Given the description of an element on the screen output the (x, y) to click on. 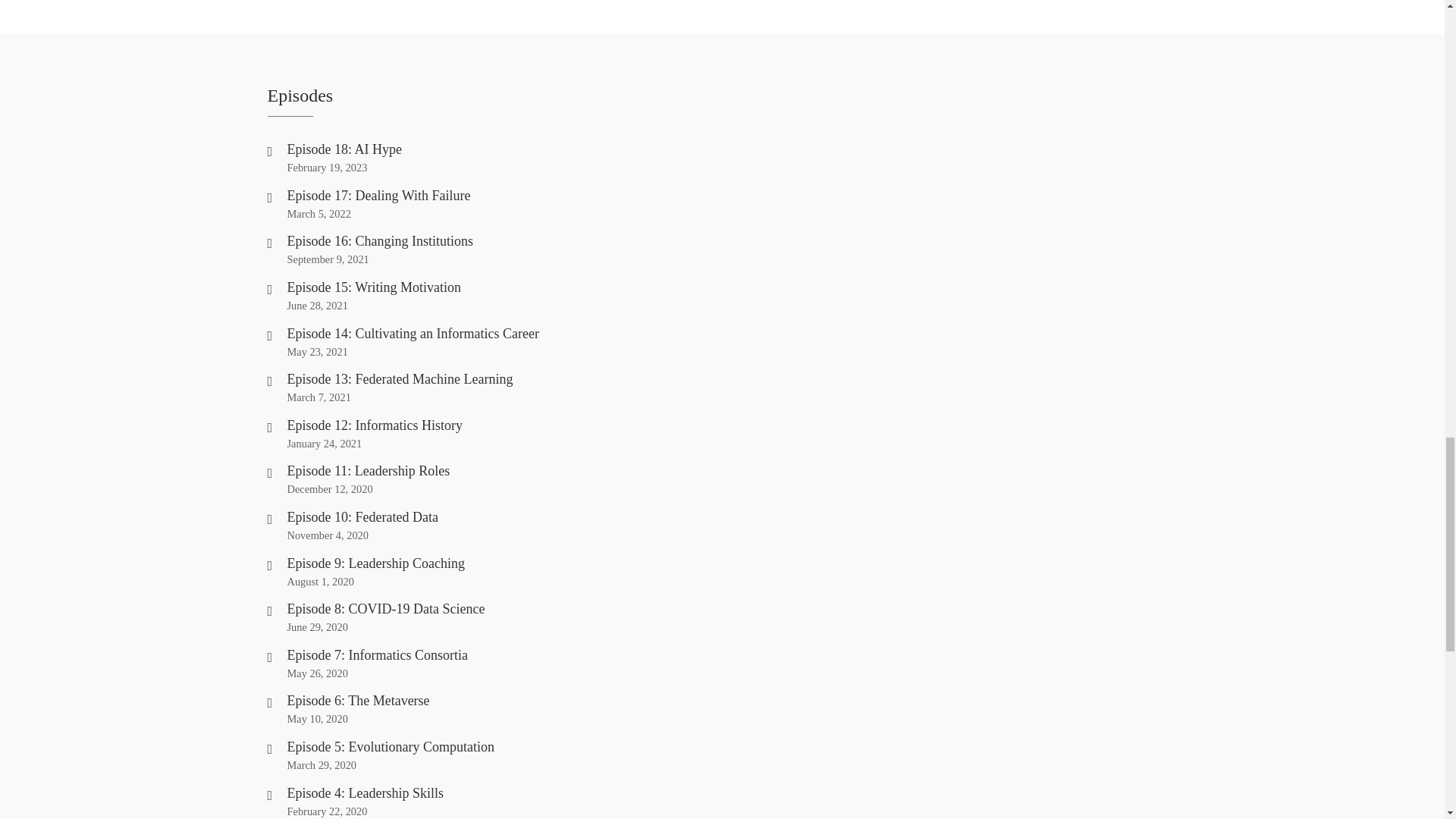
Episode 12: Informatics History (373, 425)
Episode 15: Writing Motivation (373, 287)
Episode 14: Cultivating an Informatics Career (412, 333)
Episode 4: Leadership Skills (364, 792)
Episode 18: AI Hype (343, 149)
Episode 5: Evolutionary Computation (389, 746)
Episode 16: Changing Institutions (379, 240)
Episode 10: Federated Data (362, 516)
Episode 17: Dealing With Failure (378, 195)
Episode 6: The Metaverse (357, 700)
